Given the description of an element on the screen output the (x, y) to click on. 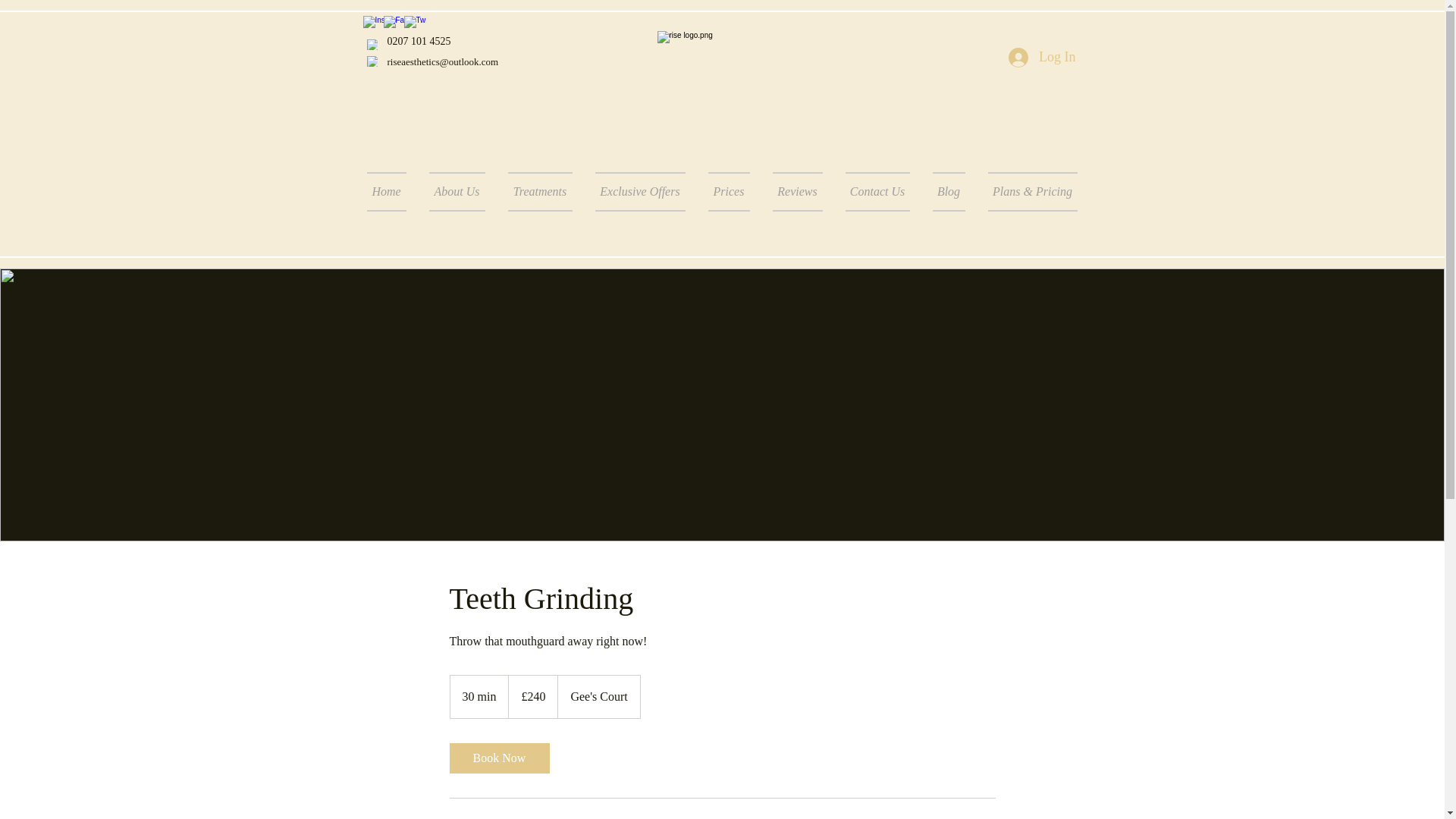
Blog (947, 191)
Contact Us (877, 191)
Treatments (539, 191)
Reviews (797, 191)
Exclusive Offers (640, 191)
Book Now (498, 757)
Prices (727, 191)
About Us (456, 191)
Log In (1041, 57)
Home (391, 191)
